Given the description of an element on the screen output the (x, y) to click on. 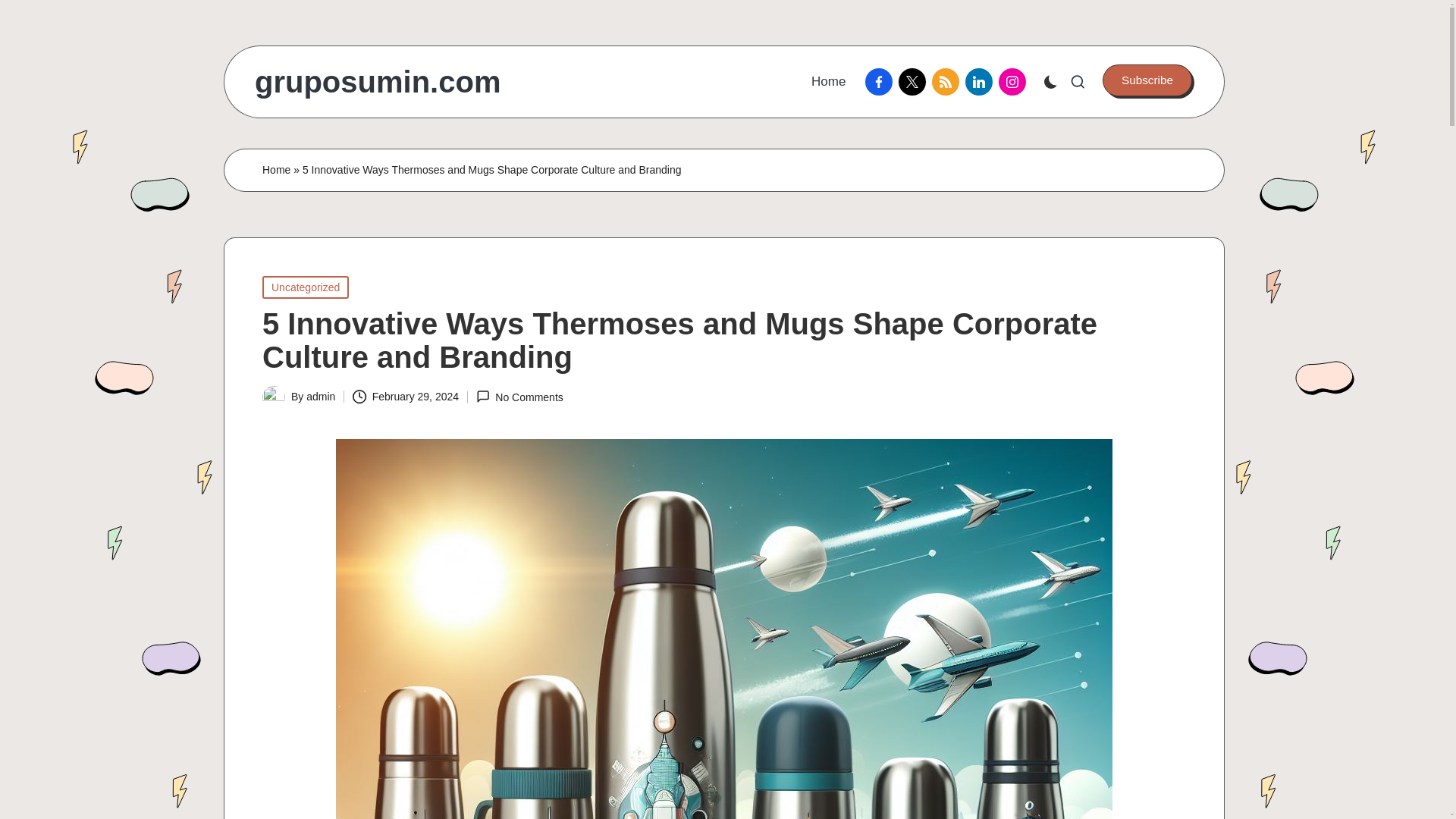
rss.com (948, 81)
View all posts by admin (319, 396)
facebook.com (881, 81)
instagram.com (1015, 81)
Uncategorized (305, 287)
linkedin.com (981, 81)
twitter.com (914, 81)
Home (827, 81)
admin (319, 396)
Home (275, 169)
